Given the description of an element on the screen output the (x, y) to click on. 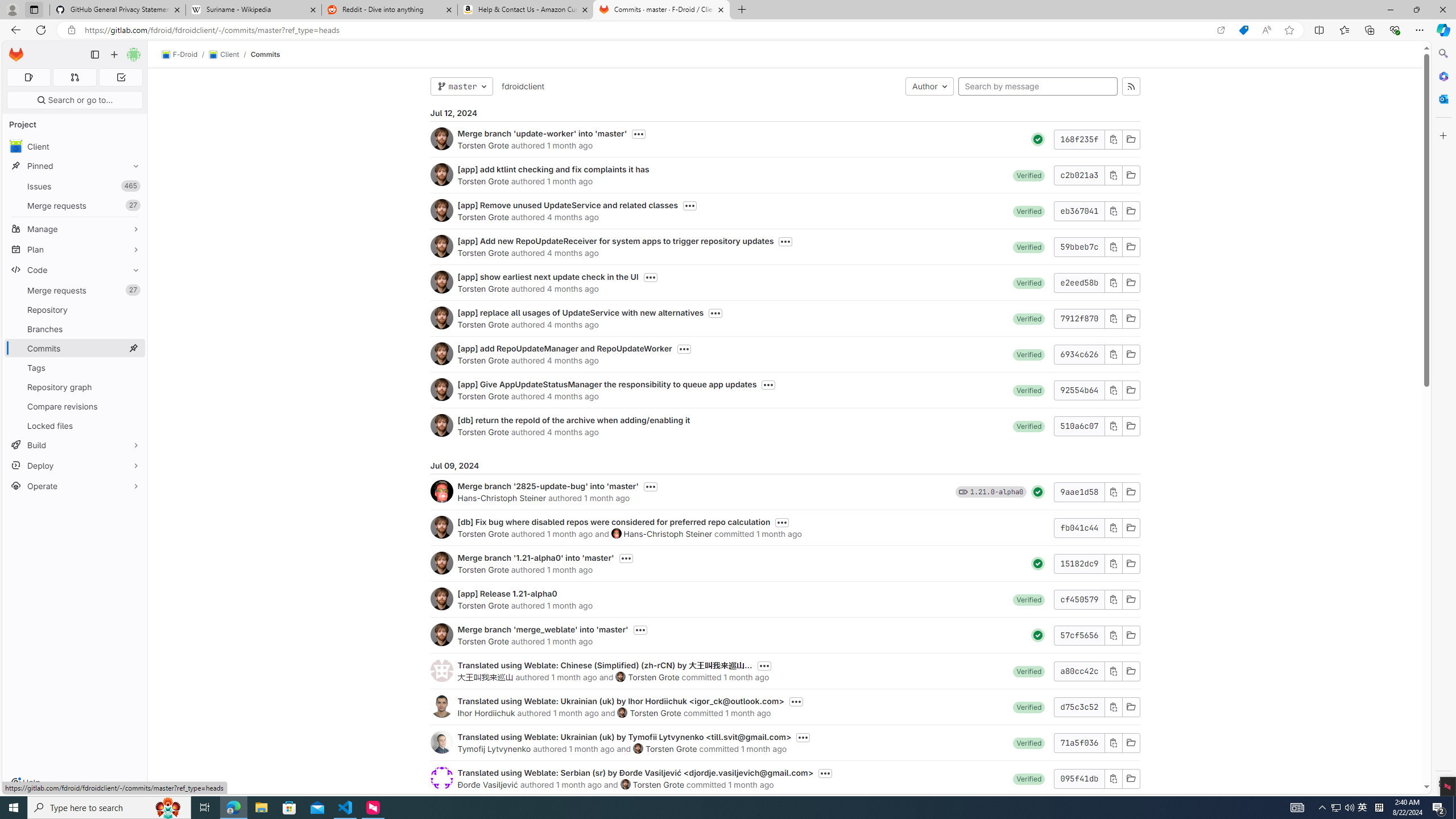
fdroidclient (522, 85)
Tymofij Lytvynenko's avatar (440, 741)
Tymofij Lytvynenko's avatar (440, 741)
Code (74, 269)
Commits (265, 53)
avatar (15, 146)
Repository graph (74, 386)
Merge requests27 (74, 289)
[app] add RepoUpdateManager and RepoUpdateWorker (564, 347)
Compare revisions (74, 406)
Merge requests 0 (74, 76)
Hans-Christoph Steiner's avatar (616, 533)
